Given the description of an element on the screen output the (x, y) to click on. 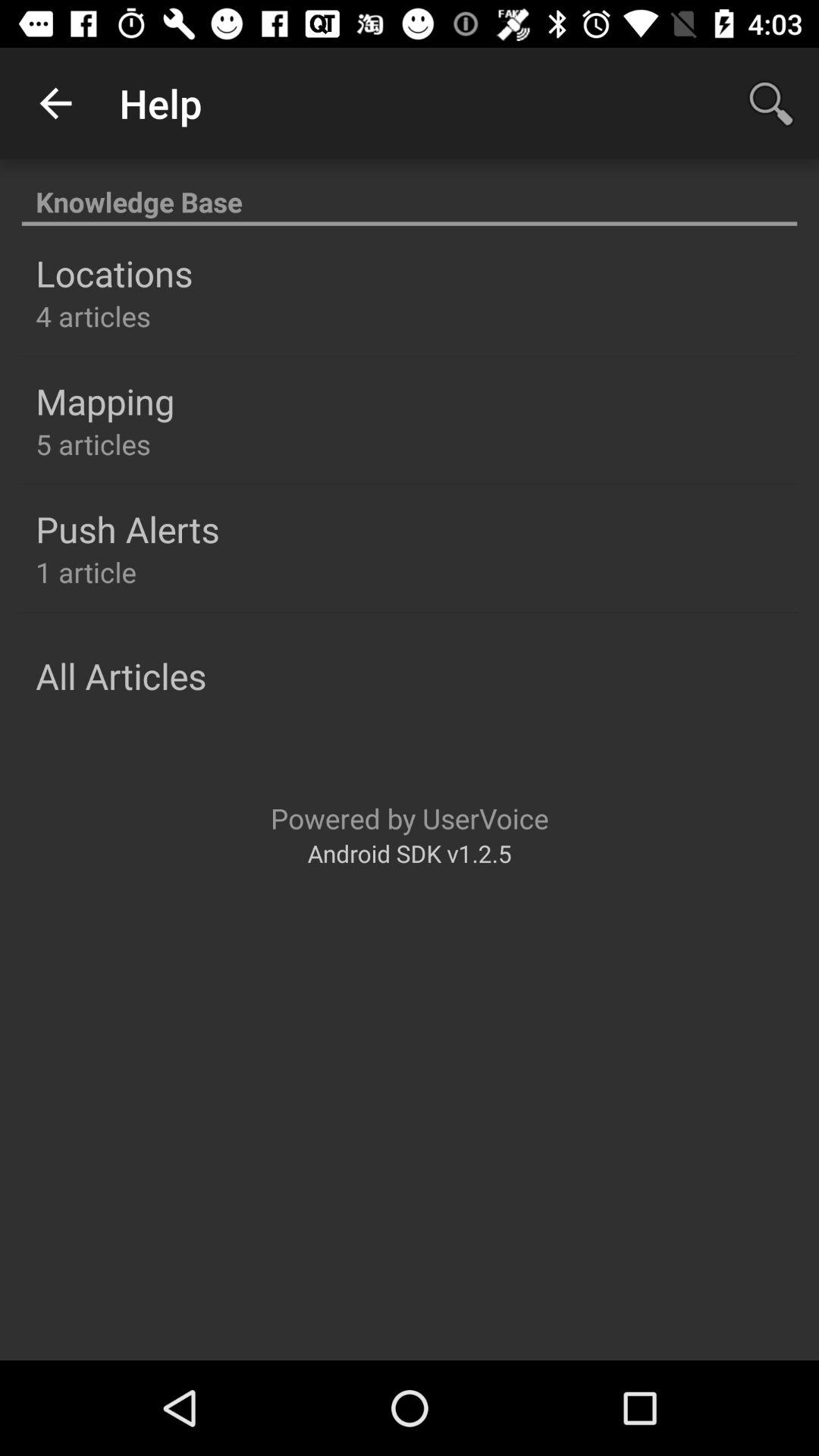
open item to the left of help item (55, 103)
